Given the description of an element on the screen output the (x, y) to click on. 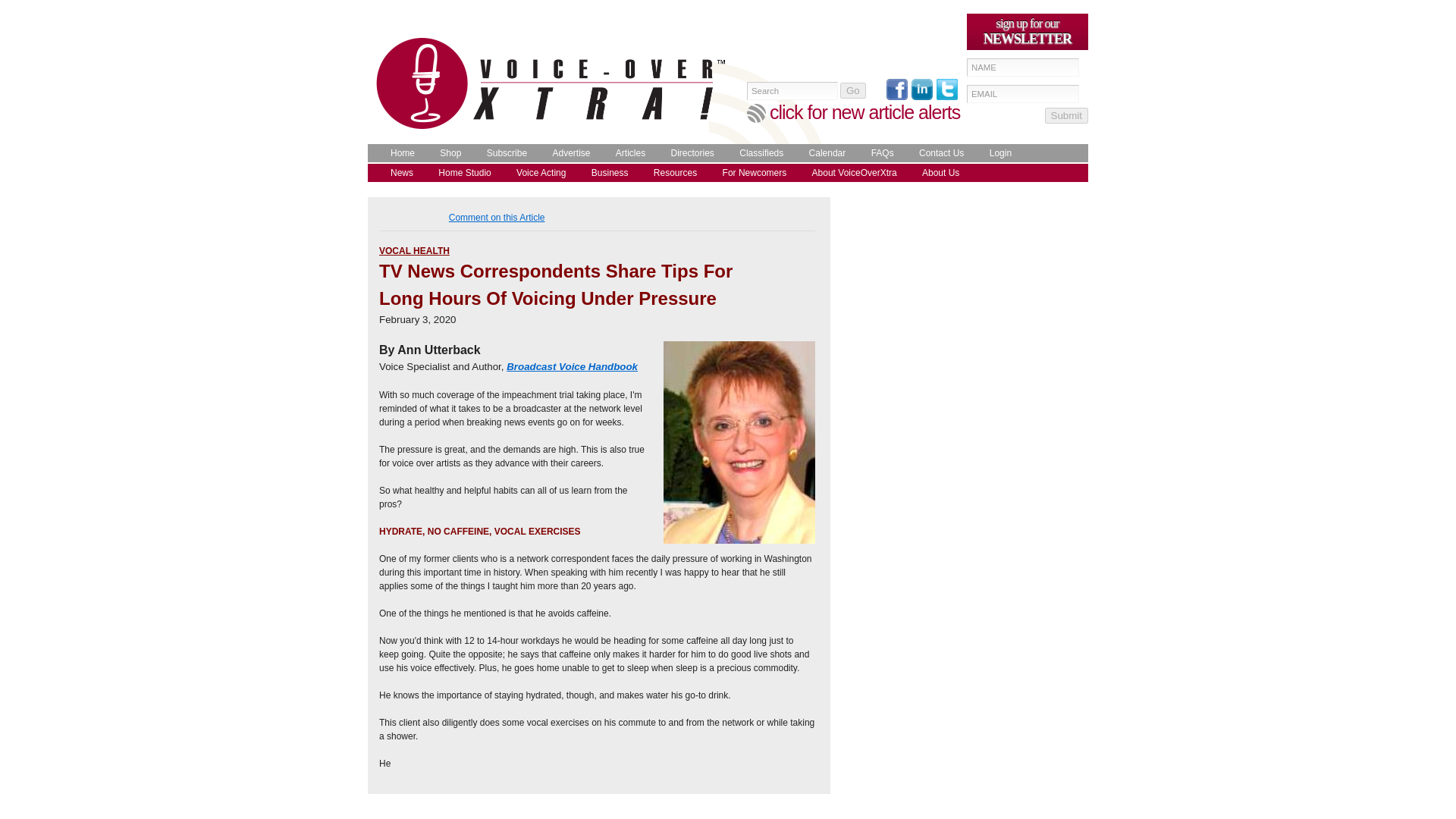
News (397, 172)
Subscribe (503, 152)
For Newcomers (750, 172)
Classifieds (757, 152)
Search (792, 90)
Login (996, 152)
NAME (1022, 67)
Articles (626, 152)
About VoiceOverXtra (850, 172)
Resources (671, 172)
